Given the description of an element on the screen output the (x, y) to click on. 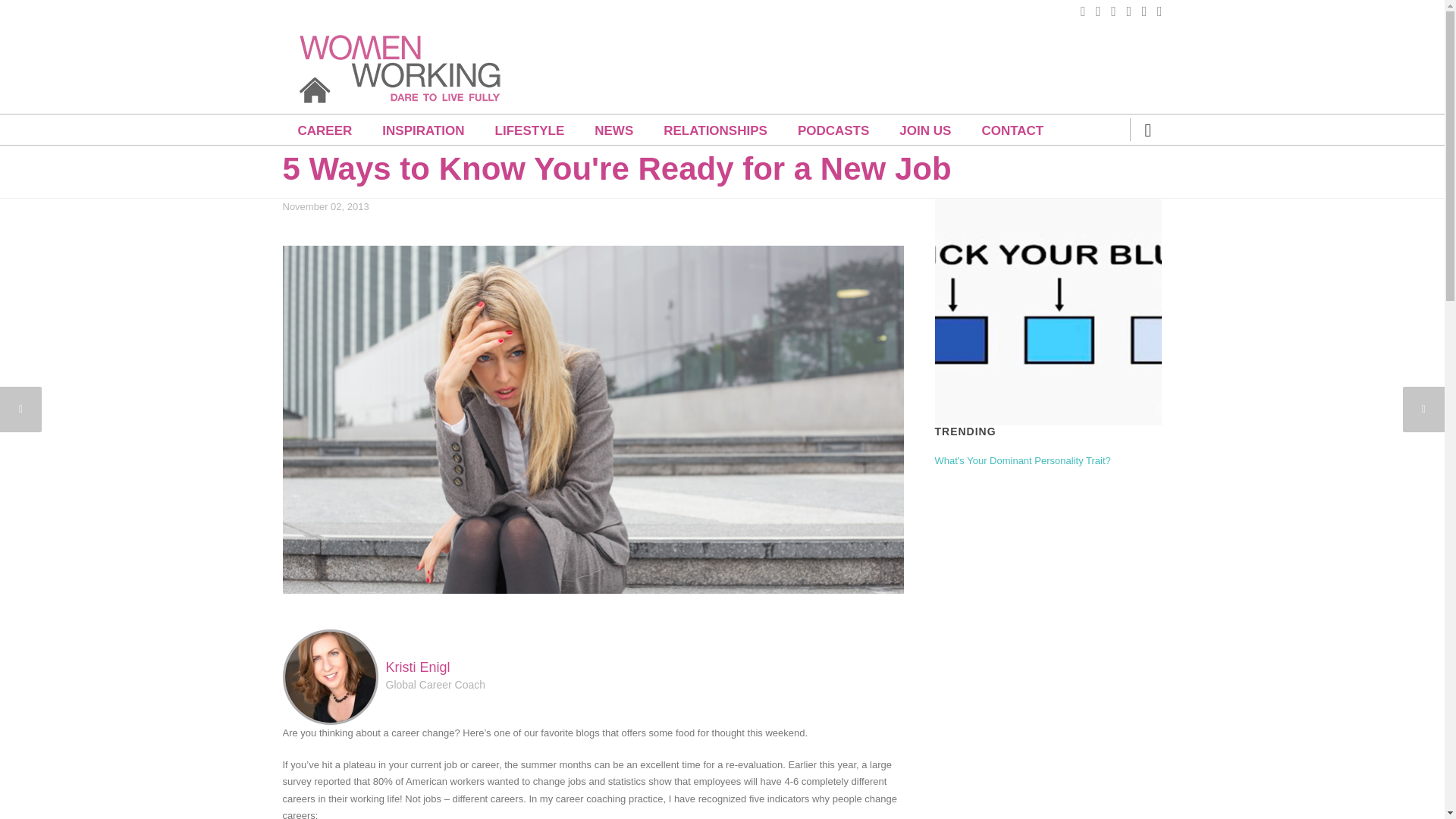
PODCASTS (833, 131)
CONTACT (1012, 131)
INSPIRATION (422, 131)
Advertisement (885, 57)
NEWS (613, 131)
RELATIONSHIPS (715, 131)
JOIN US (924, 131)
CAREER (324, 131)
LIFESTYLE (529, 131)
